Given the description of an element on the screen output the (x, y) to click on. 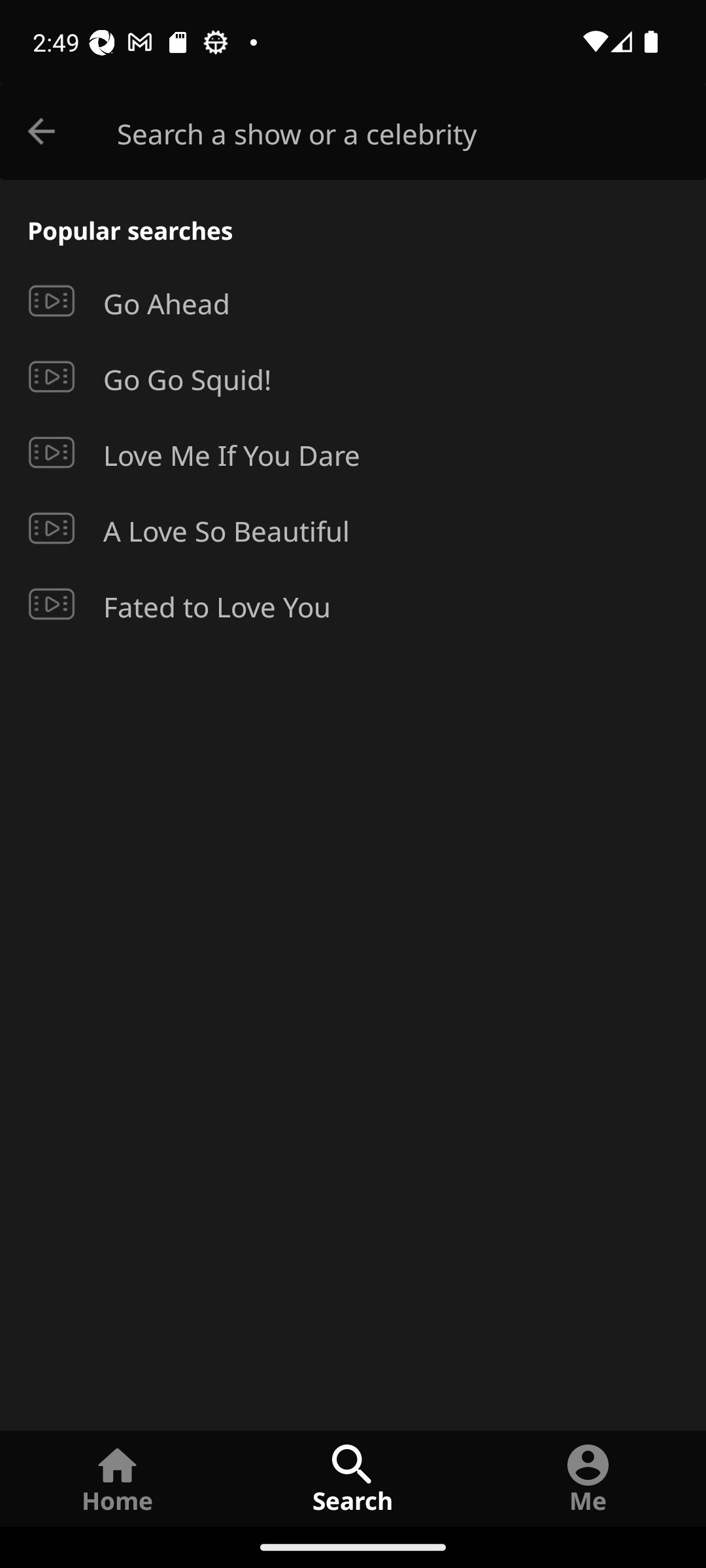
Search a show or a celebrity (411, 131)
Go Ahead (353, 300)
Go Go Squid! (353, 376)
Love Me If You Dare (353, 452)
A Love So Beautiful (353, 528)
Fated to Love You (353, 604)
Home (117, 1478)
Me (588, 1478)
